Given the description of an element on the screen output the (x, y) to click on. 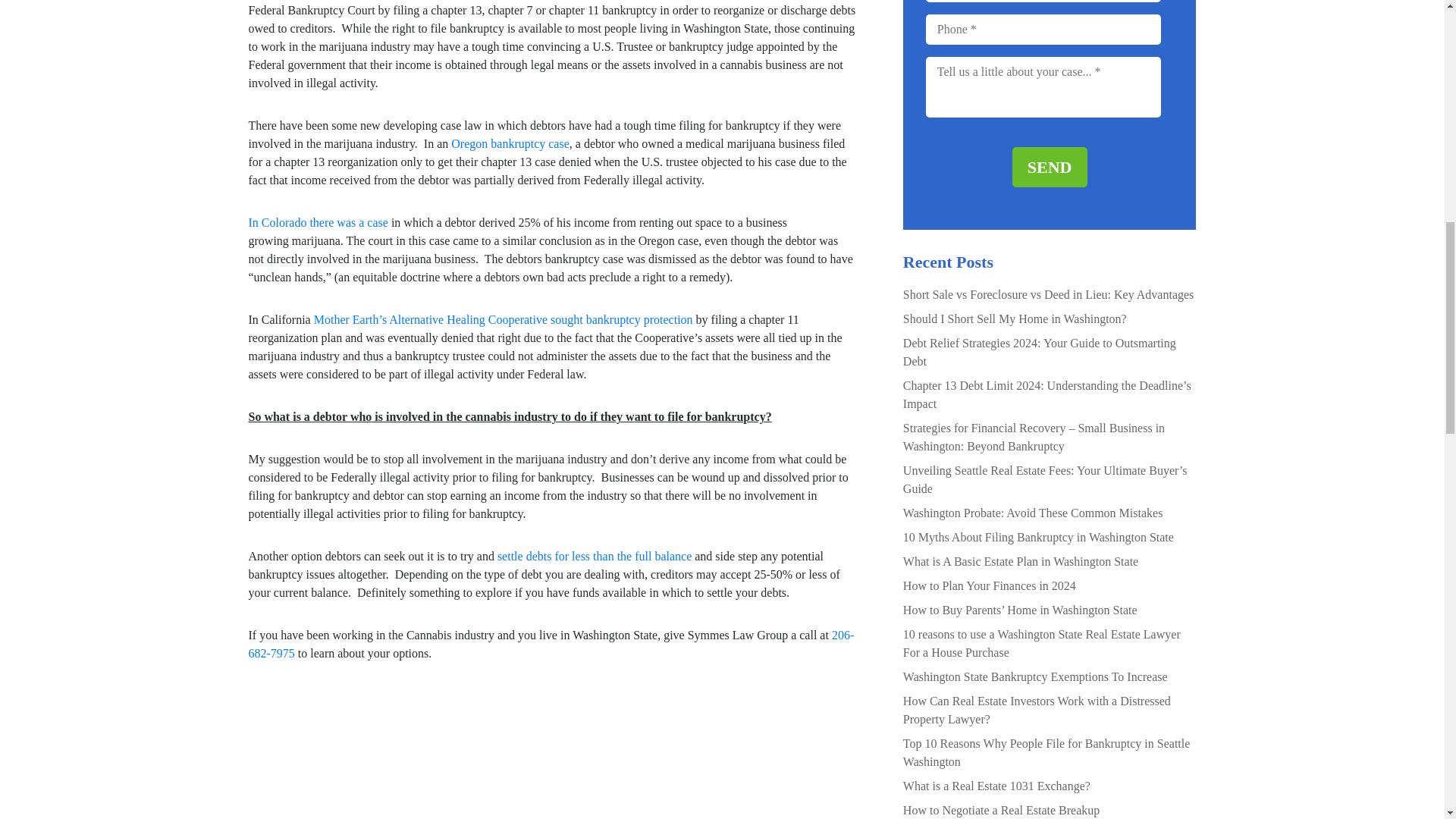
Send (1049, 167)
In Colorado there was a case (318, 222)
Oregon bankruptcy case (510, 143)
